Given the description of an element on the screen output the (x, y) to click on. 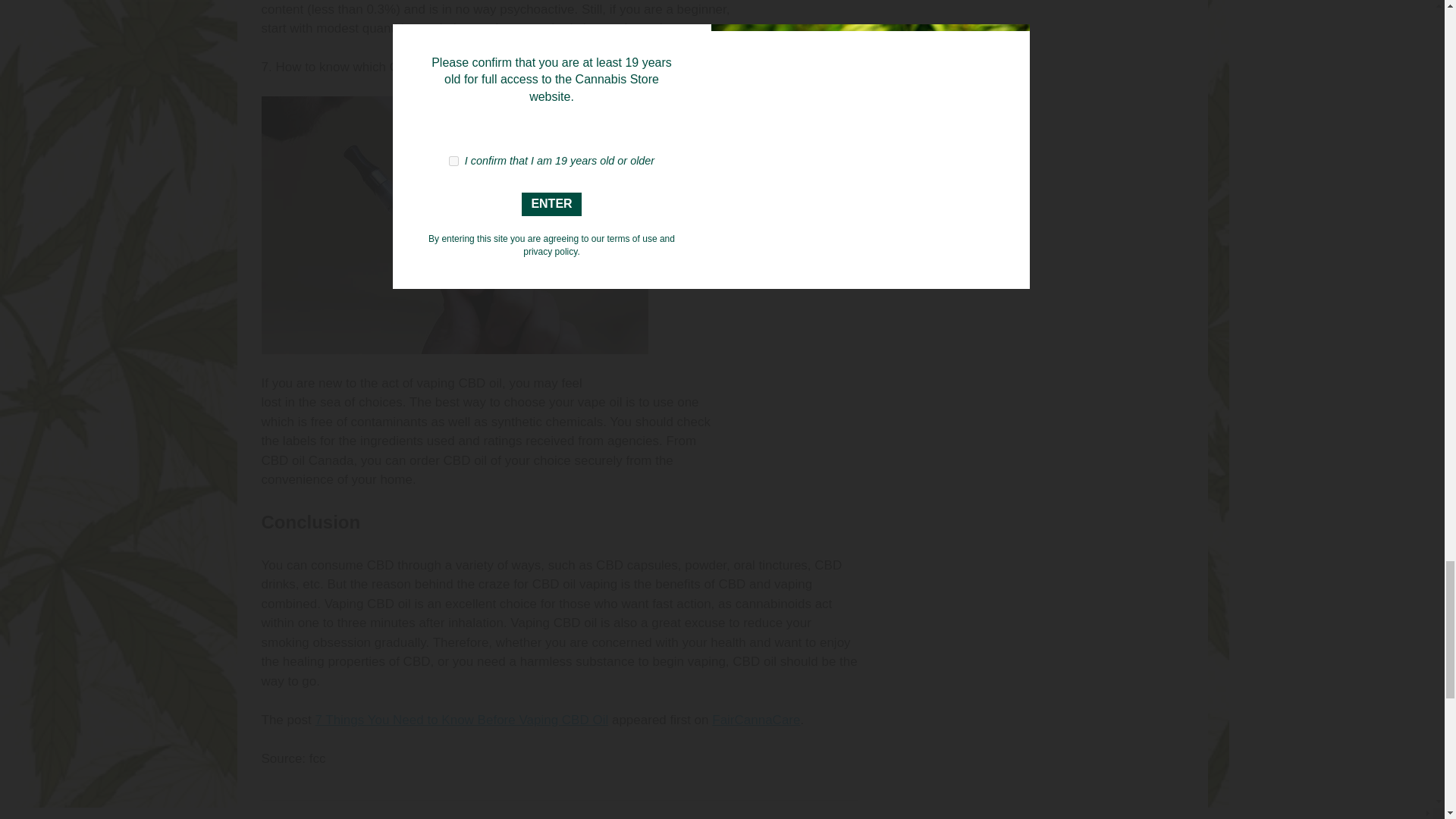
FairCannaCare (755, 719)
7 Things You Need to Know Before Vaping CBD Oil (461, 719)
